Given the description of an element on the screen output the (x, y) to click on. 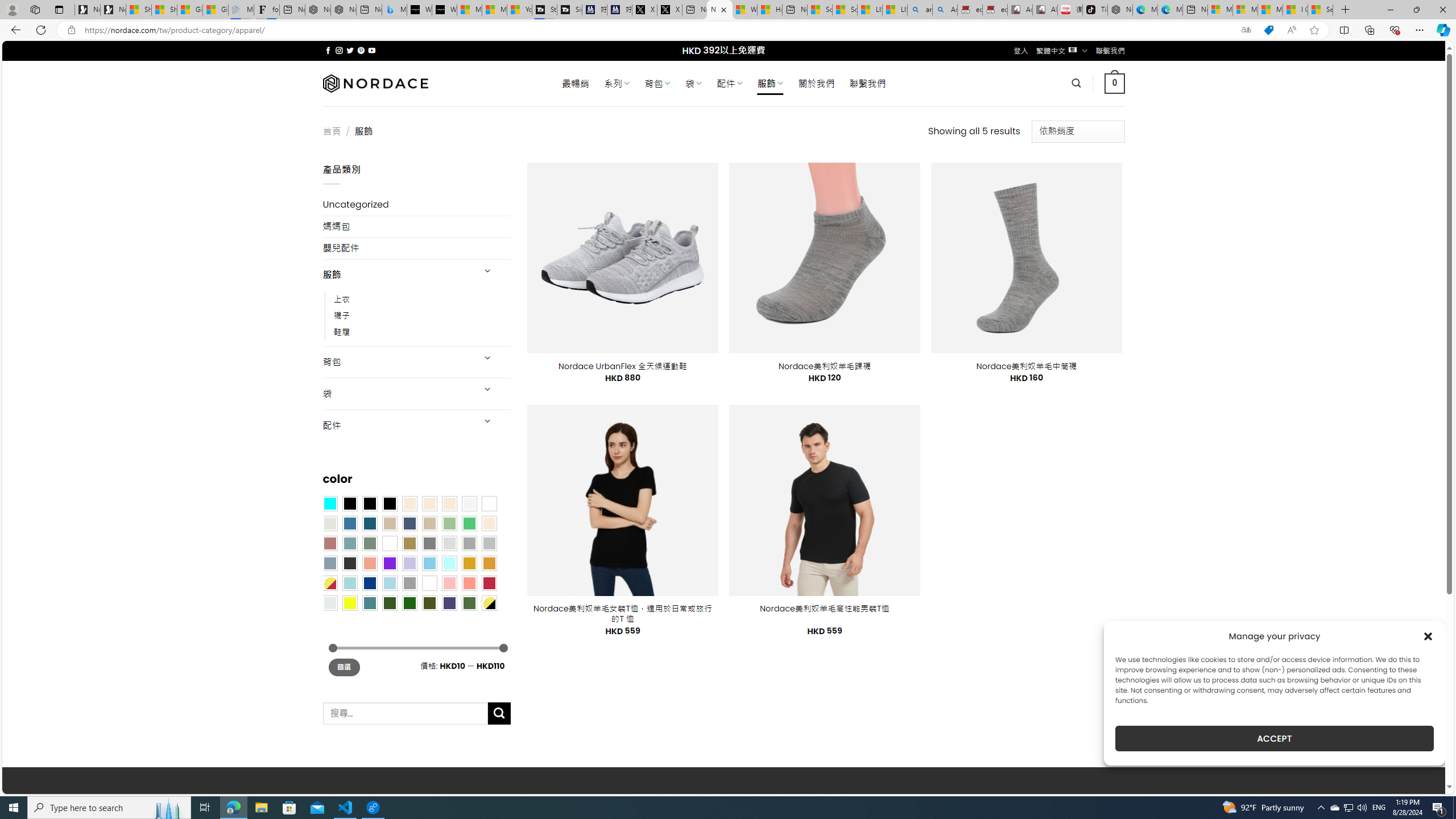
Amazon Echo Dot PNG - Search Images (944, 9)
Uncategorized (416, 204)
